Given the description of an element on the screen output the (x, y) to click on. 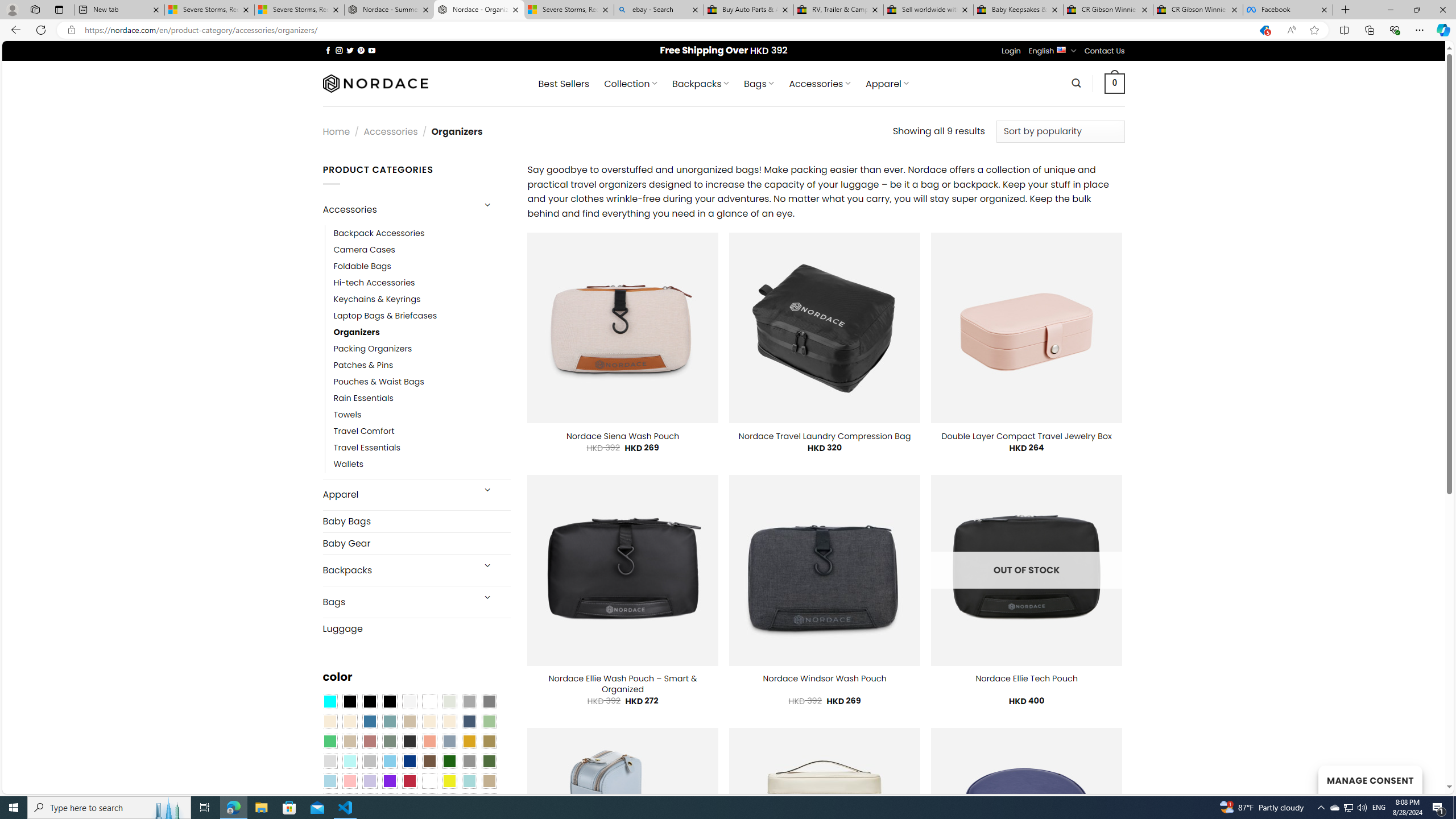
Cream (449, 721)
Baby Gear (416, 543)
Home (335, 131)
Brown (429, 761)
Coral (429, 741)
Read aloud this page (Ctrl+Shift+U) (1291, 29)
Follow on YouTube (371, 49)
Baby Bags (416, 521)
Split screen (1344, 29)
Navy Blue (408, 761)
Nordace (374, 83)
Foldable Bags (422, 265)
Travel Essentials (366, 448)
